Given the description of an element on the screen output the (x, y) to click on. 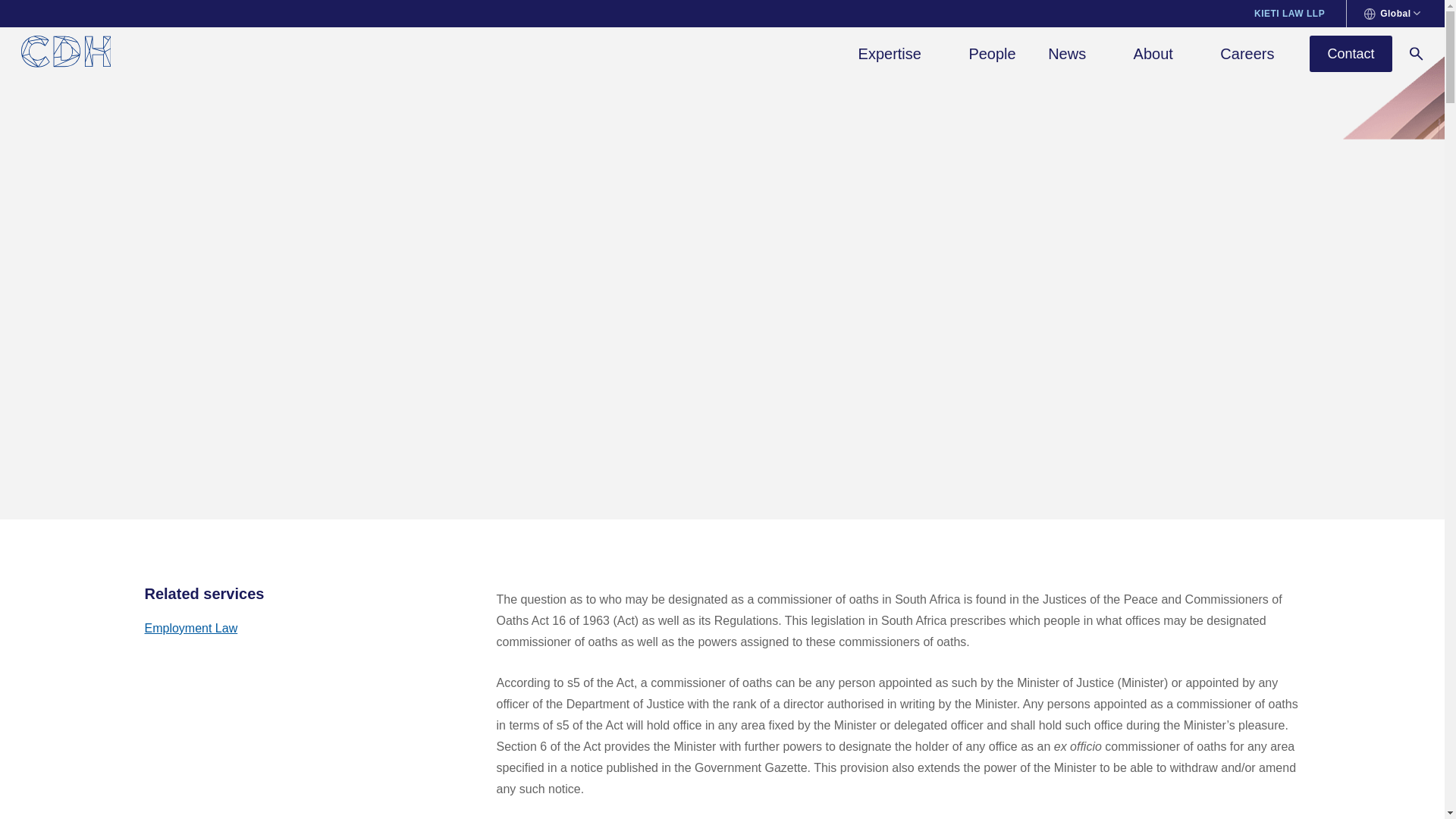
About (1161, 54)
Global (1391, 13)
Contact (1349, 54)
News (1074, 54)
People (991, 54)
Expertise (897, 54)
KIETI LAW LLP (1288, 13)
Careers (1247, 54)
